Given the description of an element on the screen output the (x, y) to click on. 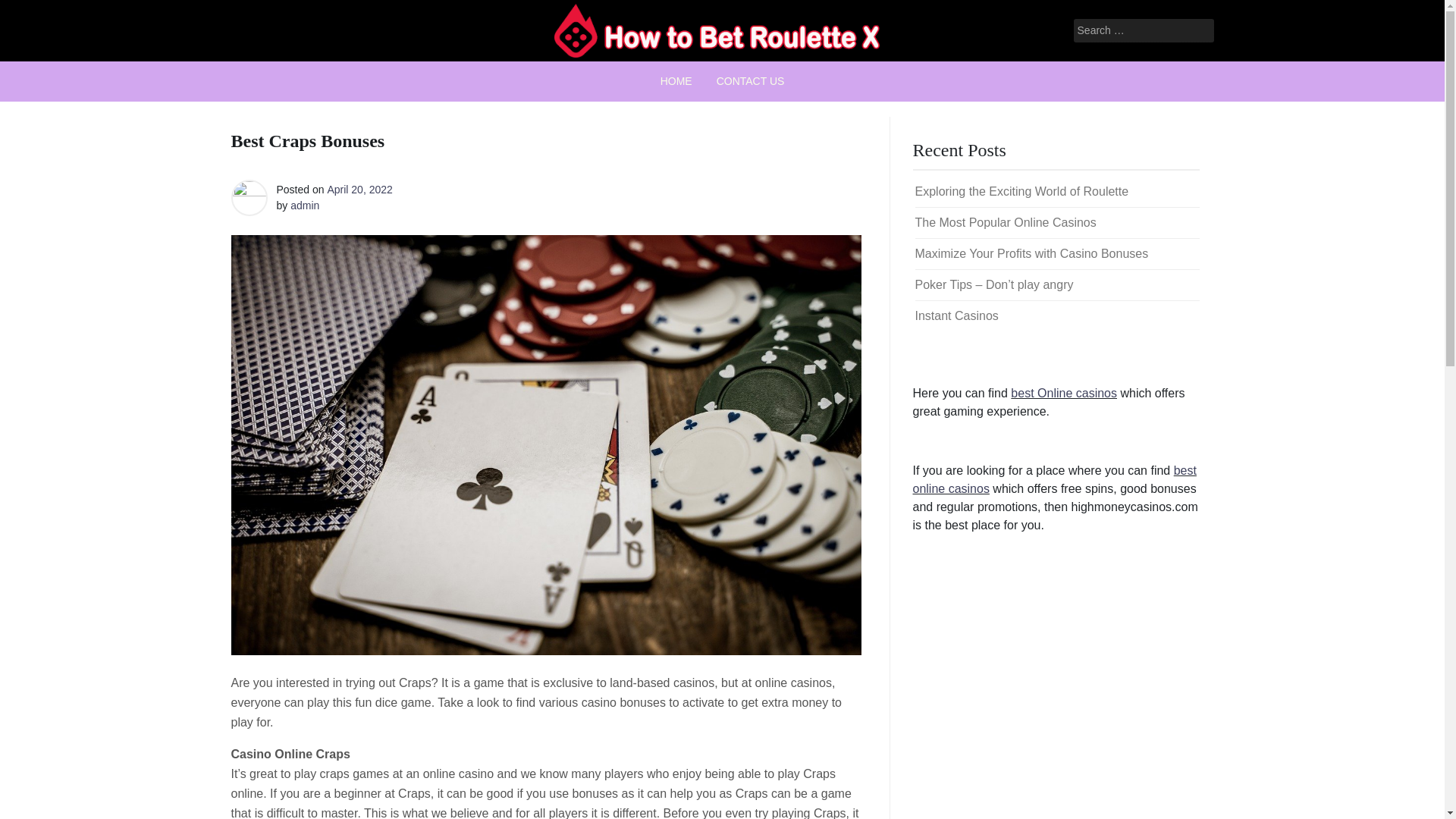
Exploring the Exciting World of Roulette (1021, 191)
Instant Casinos (955, 315)
HOME (675, 81)
The Most Popular Online Casinos (1005, 222)
best online casinos (1054, 479)
Search (32, 12)
best Online casinos (1063, 392)
April 20, 2022 (358, 189)
How to bet roulette x (697, 76)
Search (30, 12)
